Given the description of an element on the screen output the (x, y) to click on. 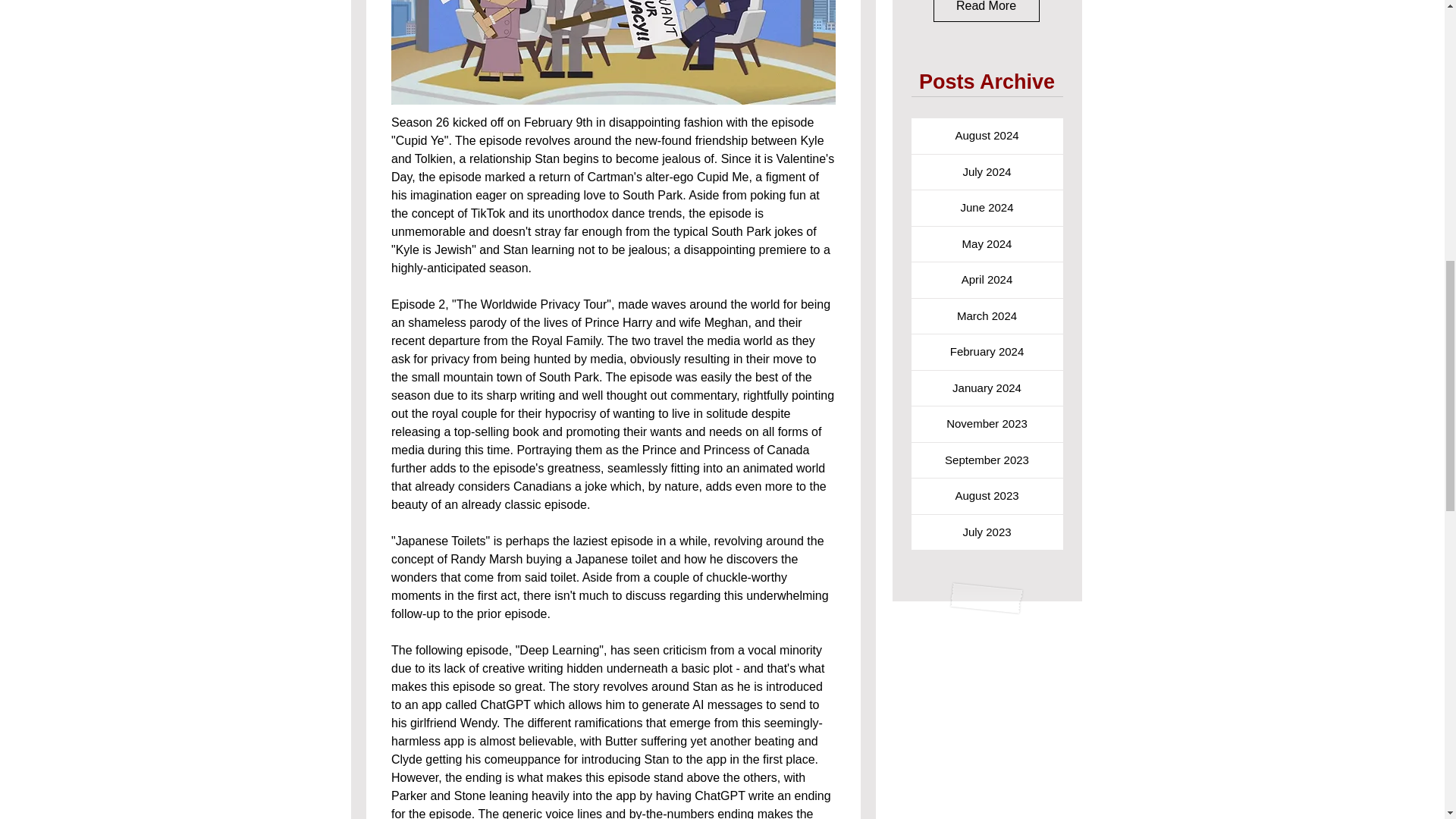
September 2023 (986, 460)
Read More (986, 11)
July 2024 (986, 172)
June 2024 (986, 208)
August 2024 (986, 135)
November 2023 (986, 424)
May 2024 (986, 244)
January 2024 (986, 388)
March 2024 (986, 316)
August 2023 (986, 496)
